Given the description of an element on the screen output the (x, y) to click on. 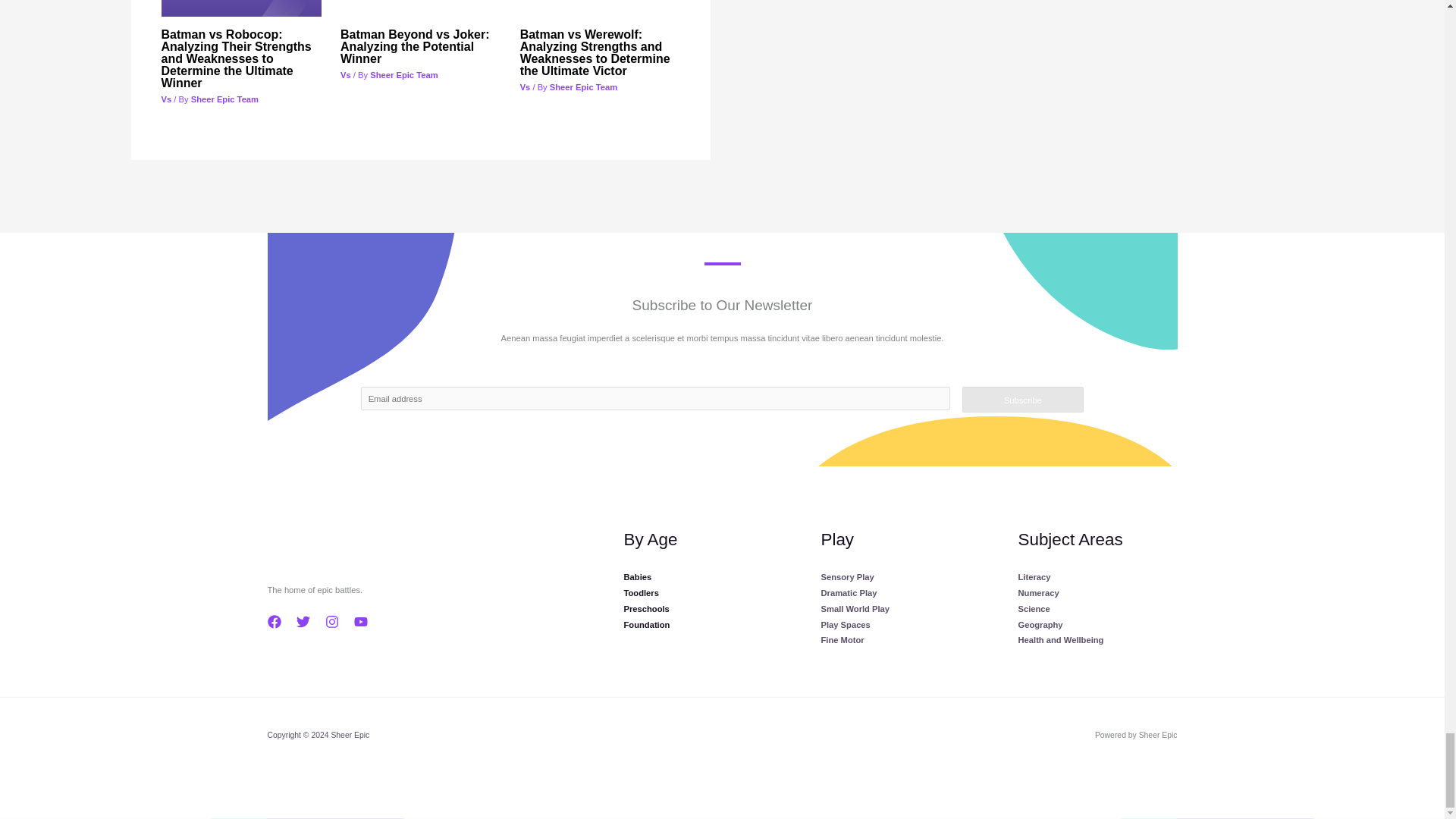
Vs (525, 86)
View all posts by Sheer Epic Team (403, 74)
View all posts by Sheer Epic Team (224, 99)
Sheer Epic Team (403, 74)
Sheer Epic Team (583, 86)
Vs (165, 99)
View all posts by Sheer Epic Team (583, 86)
Sheer Epic Team (224, 99)
Vs (345, 74)
Batman Beyond vs Joker: Analyzing the Potential Winner (414, 46)
